Given the description of an element on the screen output the (x, y) to click on. 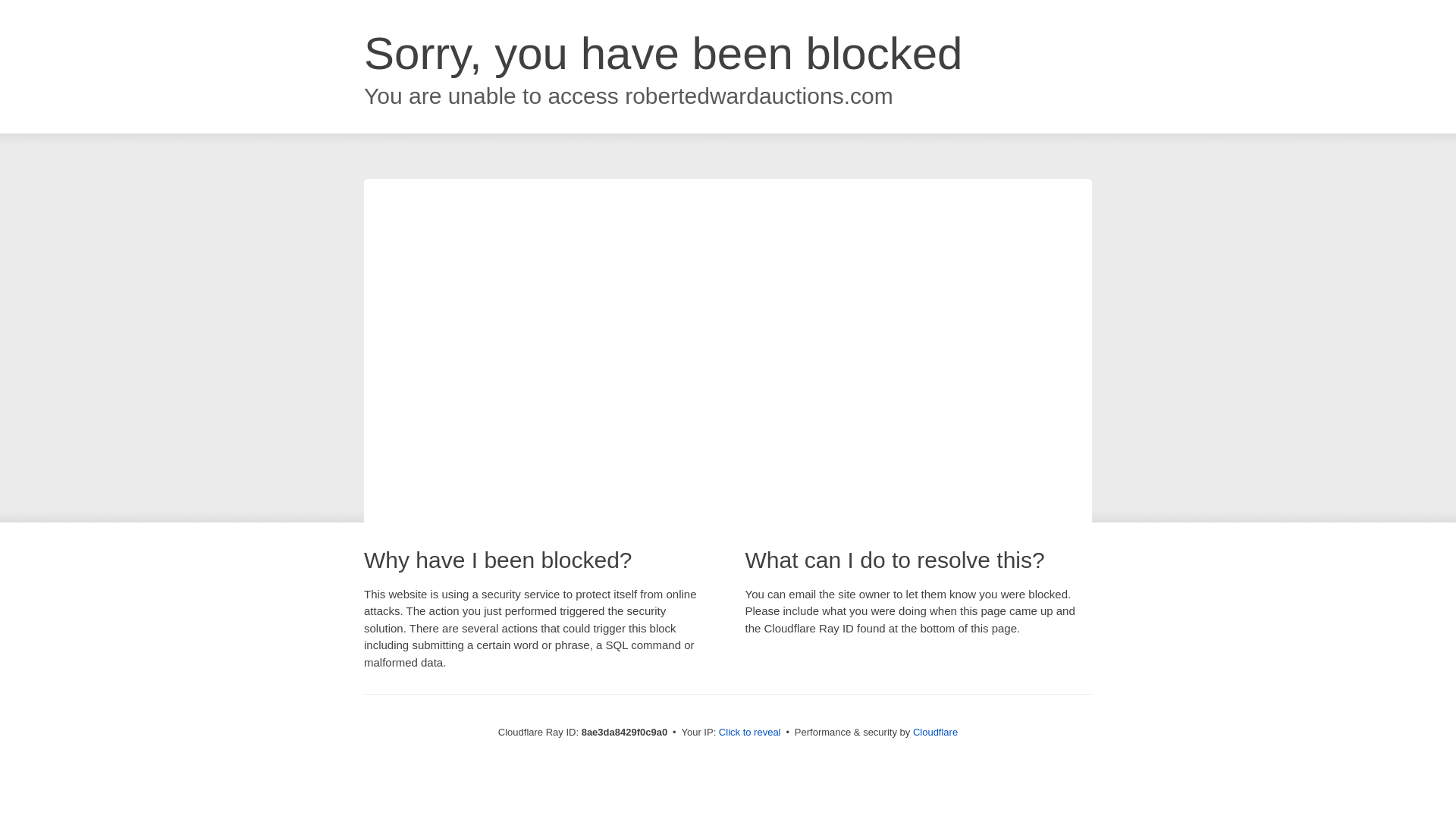
Click to reveal (749, 732)
Cloudflare (935, 731)
